Given the description of an element on the screen output the (x, y) to click on. 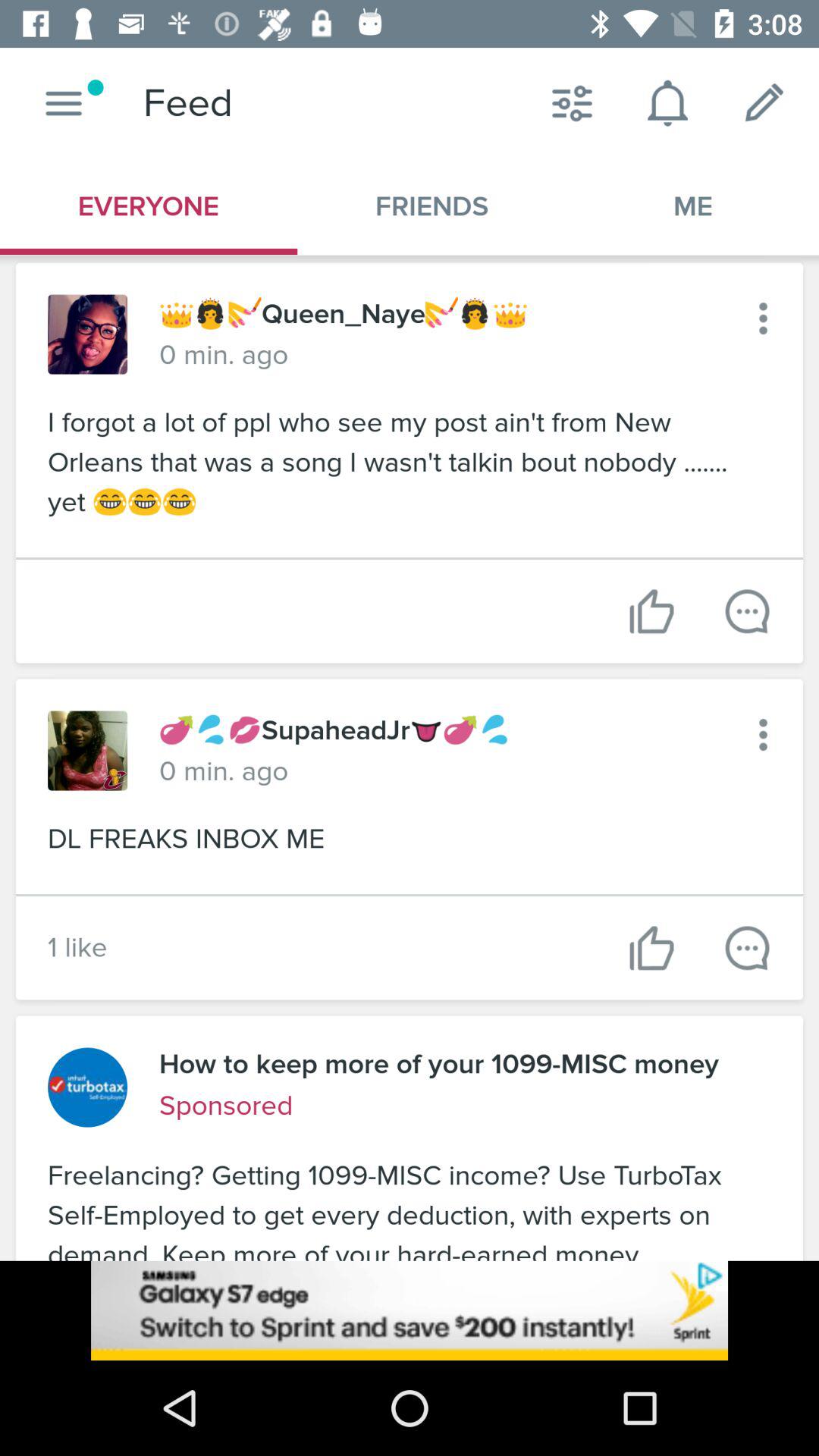
click like button (747, 947)
